Given the description of an element on the screen output the (x, y) to click on. 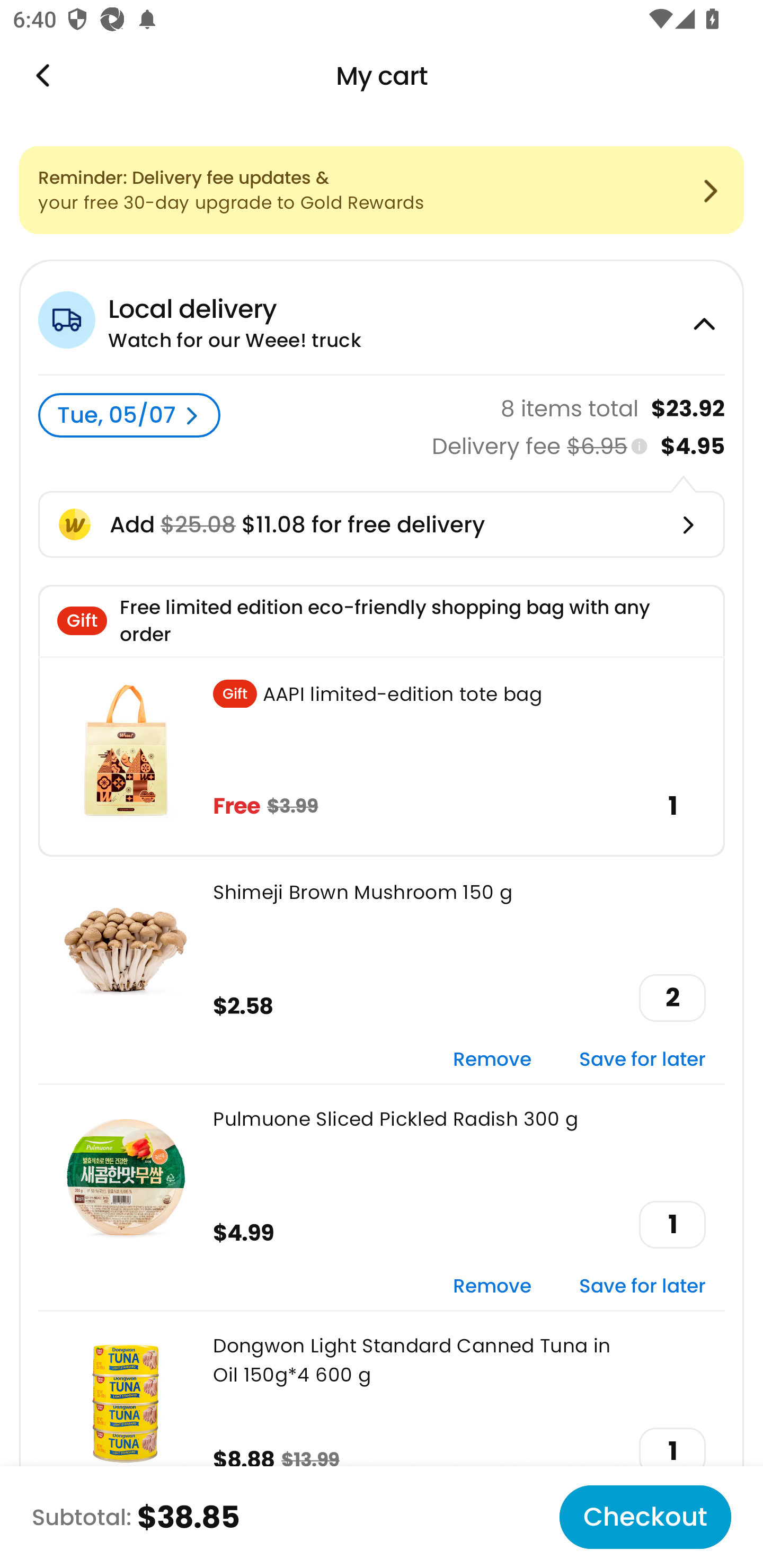
Local delivery Watch for our Weee! truck (381, 317)
Tue, 05/07 (129, 415)
Add $25.08 $11.08 for free delivery (381, 524)
. AAPI limited-edition tote bag Free $3.99 1 (381, 756)
2 (672, 997)
Remove (491, 1060)
Save for later (642, 1060)
1 (672, 1224)
Remove (491, 1286)
Save for later (642, 1286)
1 (672, 1450)
Checkout (644, 1516)
